Given the description of an element on the screen output the (x, y) to click on. 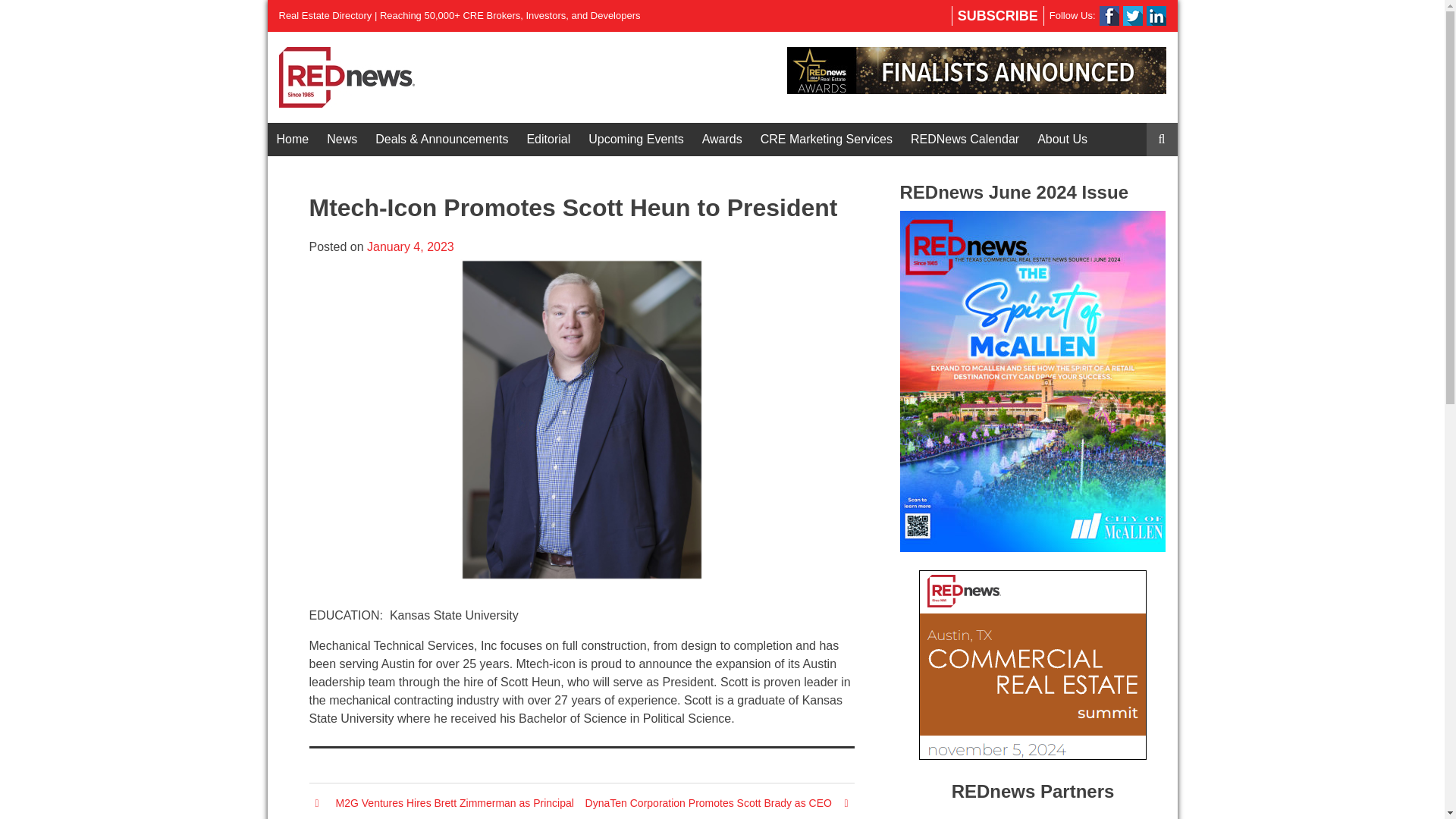
REDnews Awards 2024 Finalists Announced 071524 (976, 70)
DynaTen Corporation Promotes Scott Brady as CEO (708, 802)
SUBSCRIBE (997, 15)
M2G Ventures Hires Brett Zimmerman as Principal (454, 802)
REDnews Austin CRE Forecast Nov 5 2024 300x250 (1032, 665)
CRE Marketing Services (826, 139)
REDNews Calendar (964, 139)
January 4, 2023 (410, 246)
Upcoming Events (636, 139)
News (341, 139)
Editorial (547, 139)
Home (291, 139)
About Us (1061, 139)
Awards (722, 139)
